Given the description of an element on the screen output the (x, y) to click on. 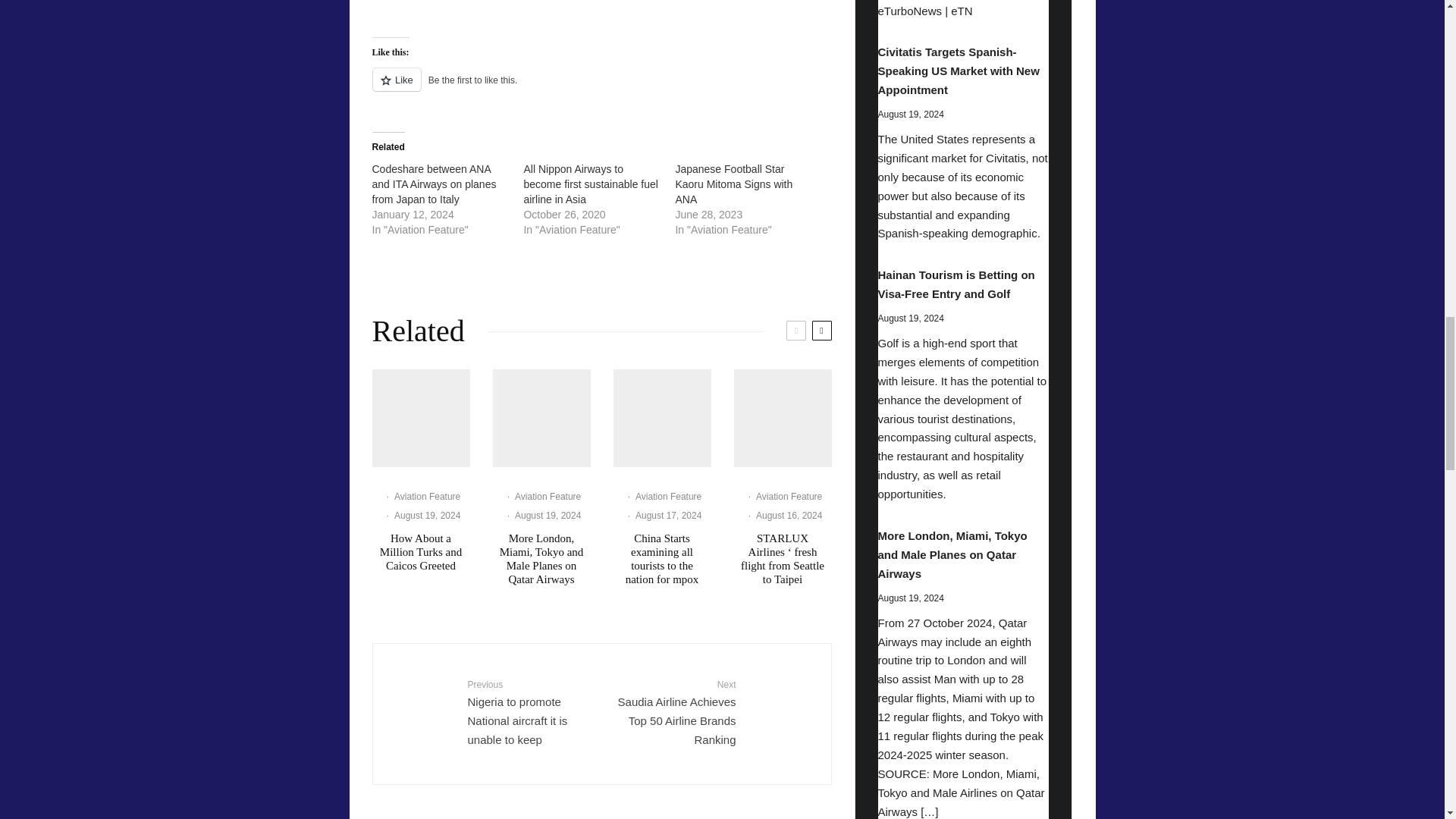
Like or Reblog (601, 87)
Japanese Football Star Kaoru Mitoma Signs with ANA (733, 183)
More London, Miami, Tokyo and Male Flights on Qatar Airways (542, 417)
How Turks and Caicos Greeted Almost a Million (419, 417)
